Given the description of an element on the screen output the (x, y) to click on. 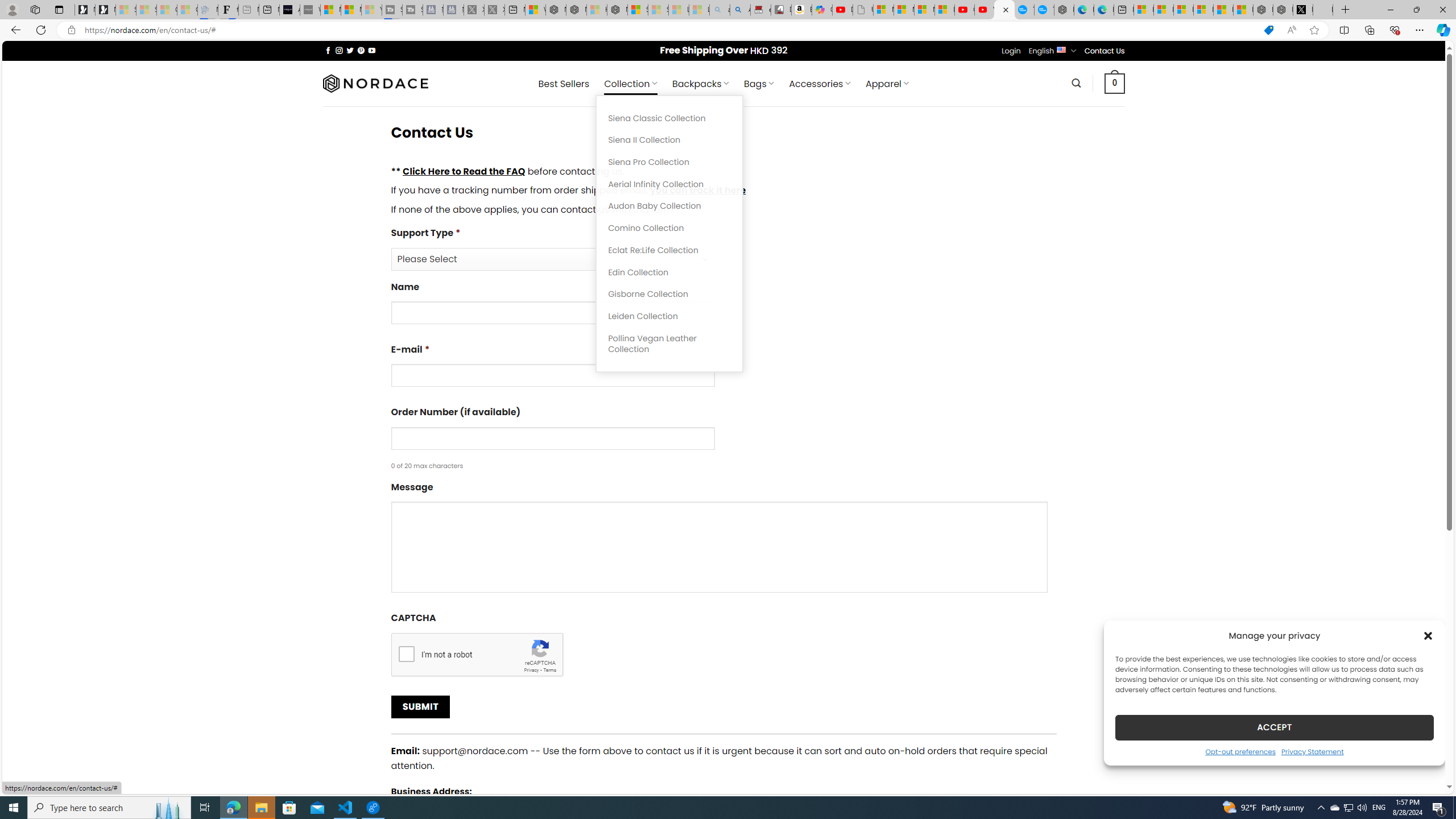
Follow on YouTube (371, 49)
E-mail* (723, 369)
This site has coupons! Shopping in Microsoft Edge (1268, 29)
 0  (1115, 83)
Name (552, 312)
Eclat Re:Life Collection (669, 250)
AI Voice Changer for PC and Mac - Voice.ai (289, 9)
Audon Baby Collection (669, 205)
Siena Pro Collection (669, 162)
Day 1: Arriving in Yemen (surreal to be here) - YouTube (842, 9)
